Given the description of an element on the screen output the (x, y) to click on. 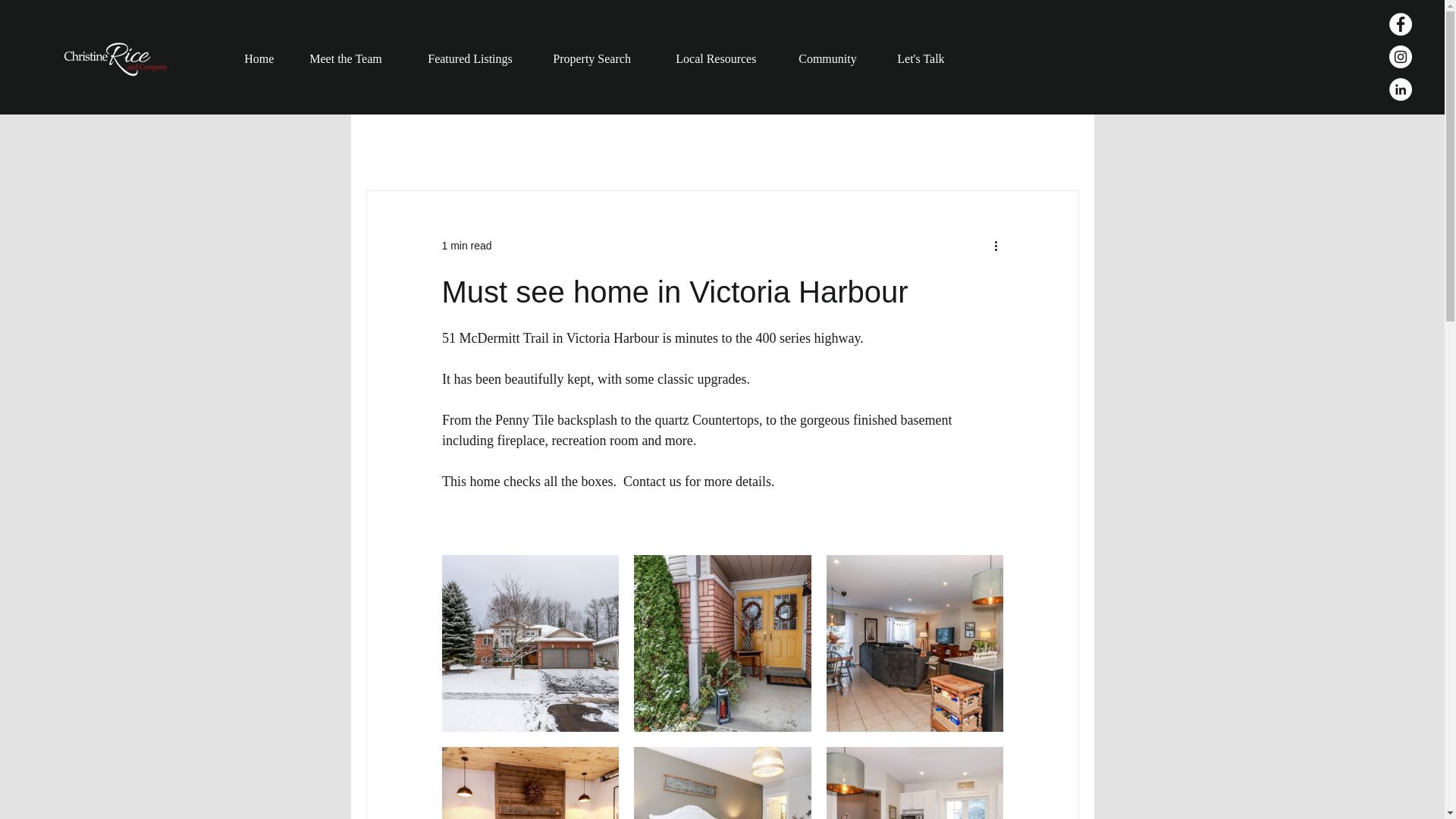
Featured Listings (475, 58)
Meet the Team (354, 58)
Property Search (599, 58)
1 min read (466, 245)
Let's Talk (921, 58)
Home (262, 58)
Local Resources (722, 58)
